Given the description of an element on the screen output the (x, y) to click on. 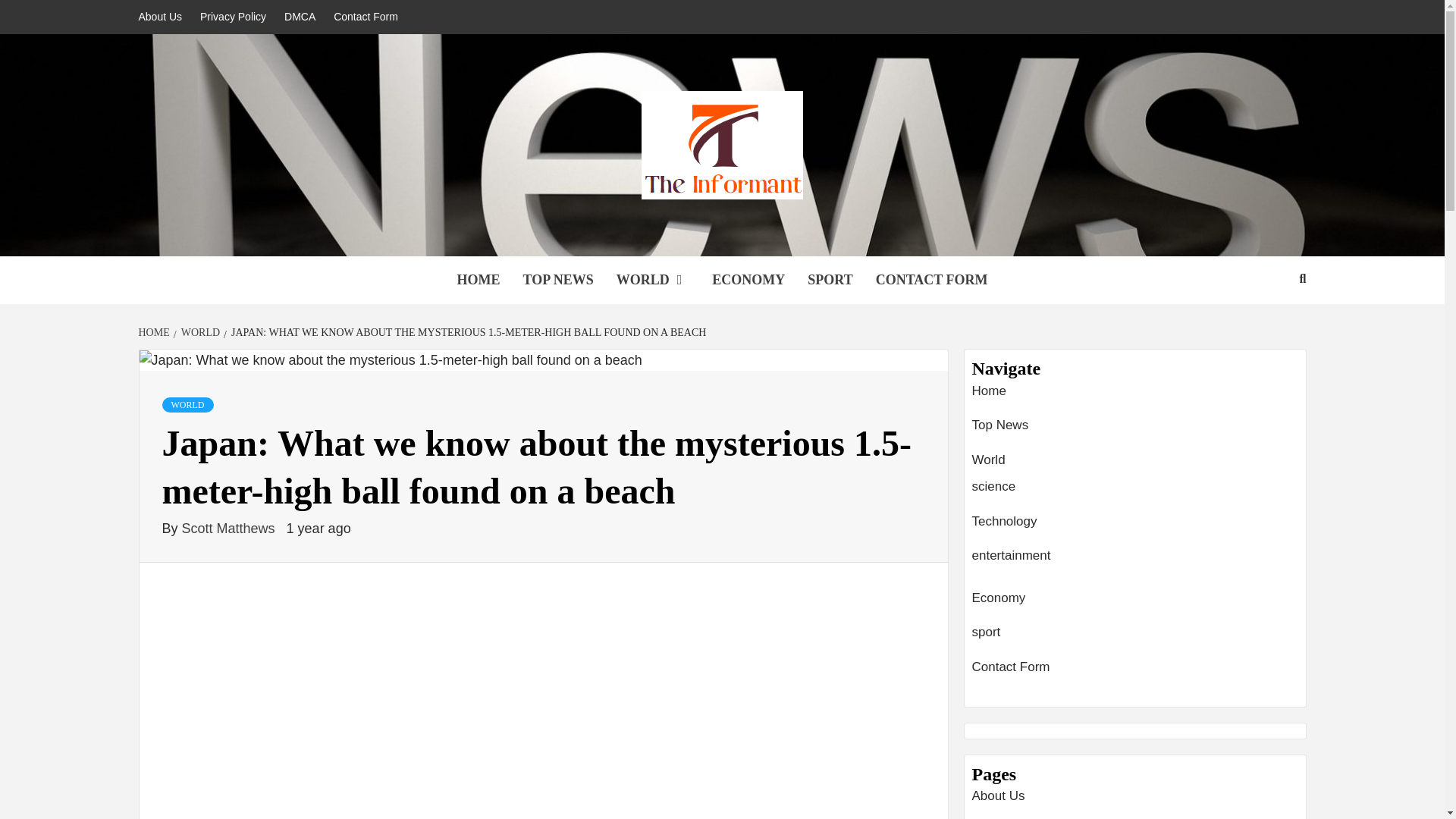
TOP NEWS (557, 279)
WORLD (198, 332)
Contact Form (366, 17)
CONTACT FORM (931, 279)
WORLD (187, 404)
ECONOMY (748, 279)
Privacy Policy (232, 17)
DMCA (299, 17)
THE INFORMANT (469, 236)
HOME (478, 279)
HOME (155, 332)
Scott Matthews (230, 528)
SPORT (829, 279)
